Given the description of an element on the screen output the (x, y) to click on. 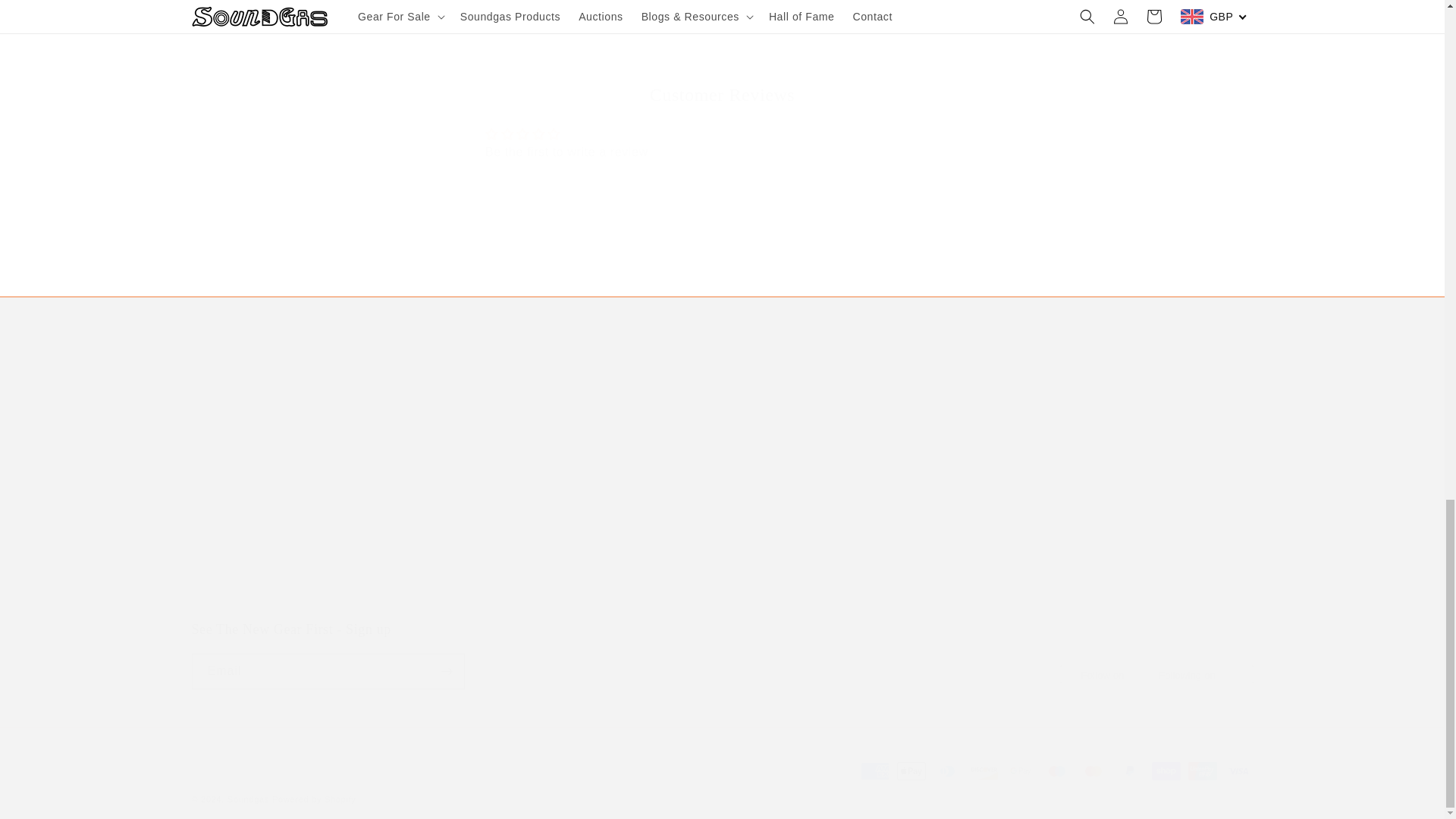
Tax (721, 6)
